Given the description of an element on the screen output the (x, y) to click on. 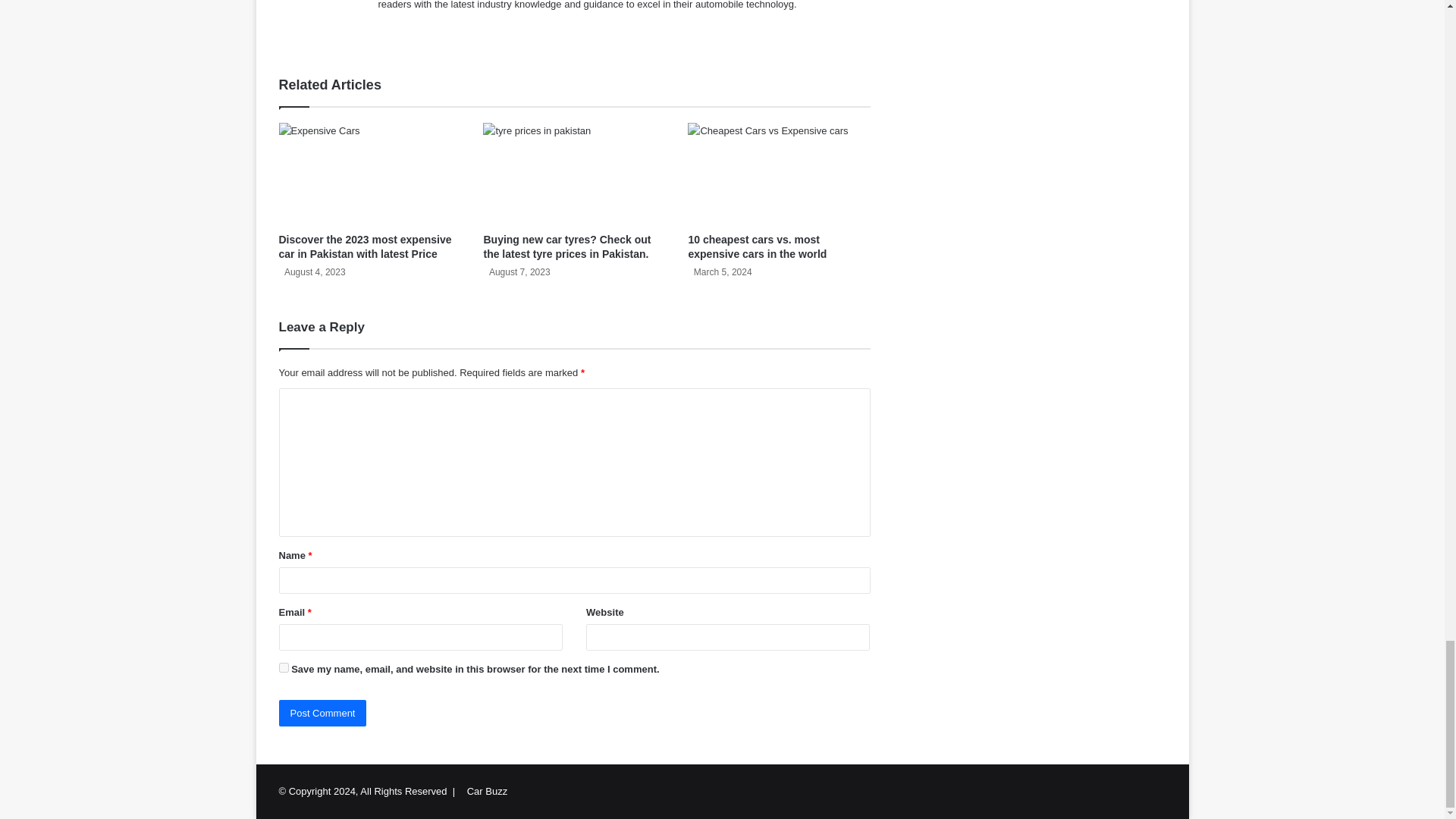
Post Comment (322, 713)
yes (283, 667)
